Given the description of an element on the screen output the (x, y) to click on. 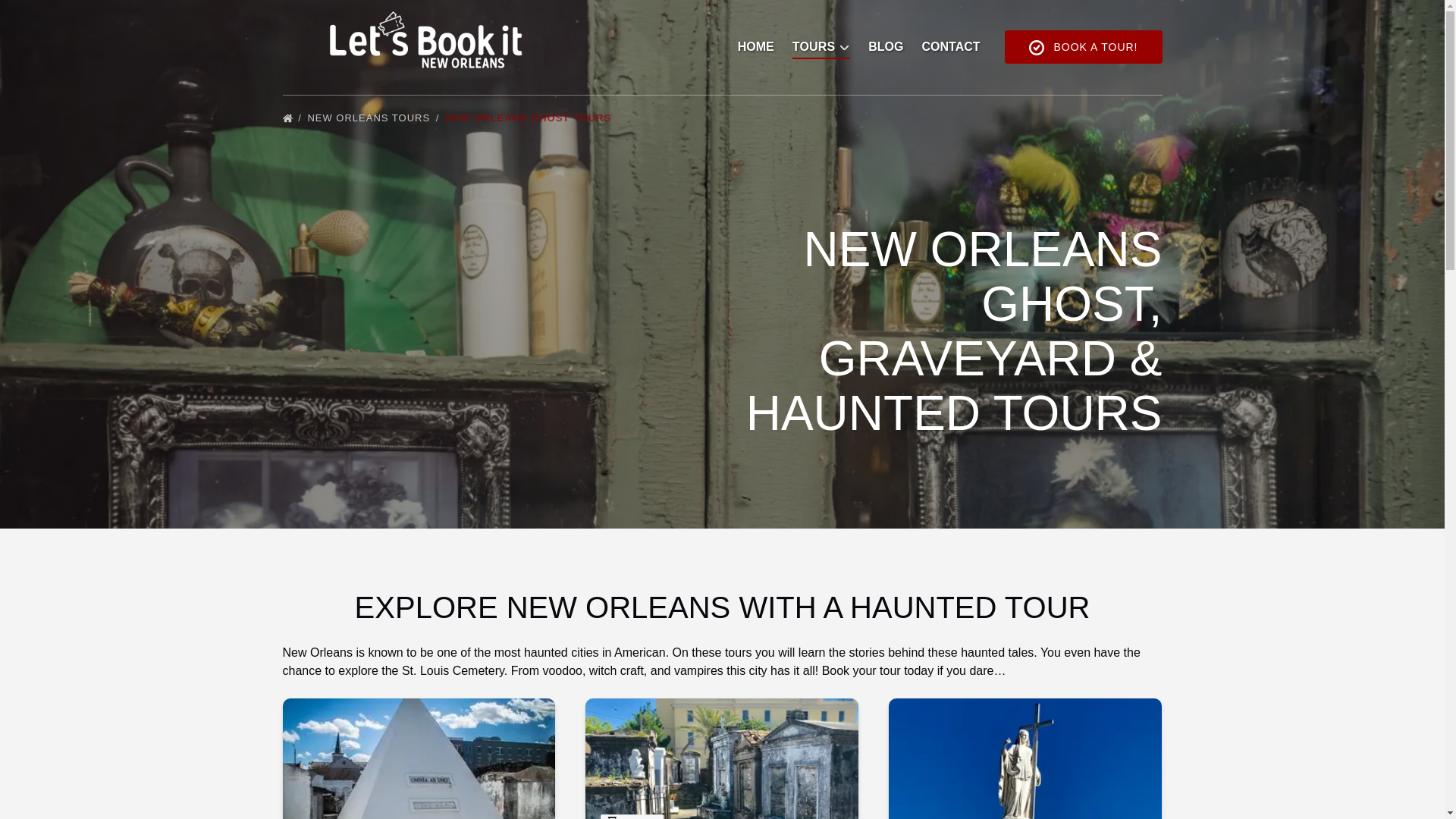
activity link (418, 758)
Skip to footer (42, 16)
activity link (1024, 758)
NEW ORLEANS TOURS (374, 117)
CHECKMARK (1036, 47)
CHECKMARK BOOK A TOUR! (1082, 46)
TOURS (821, 46)
HOME (756, 46)
Skip to primary navigation (77, 16)
Open Tours Menu (825, 42)
BLOG (885, 46)
NEW ORLEANS GHOST TOURS (532, 117)
CONTACT (951, 46)
activity link (722, 758)
Skip to content (47, 16)
